Given the description of an element on the screen output the (x, y) to click on. 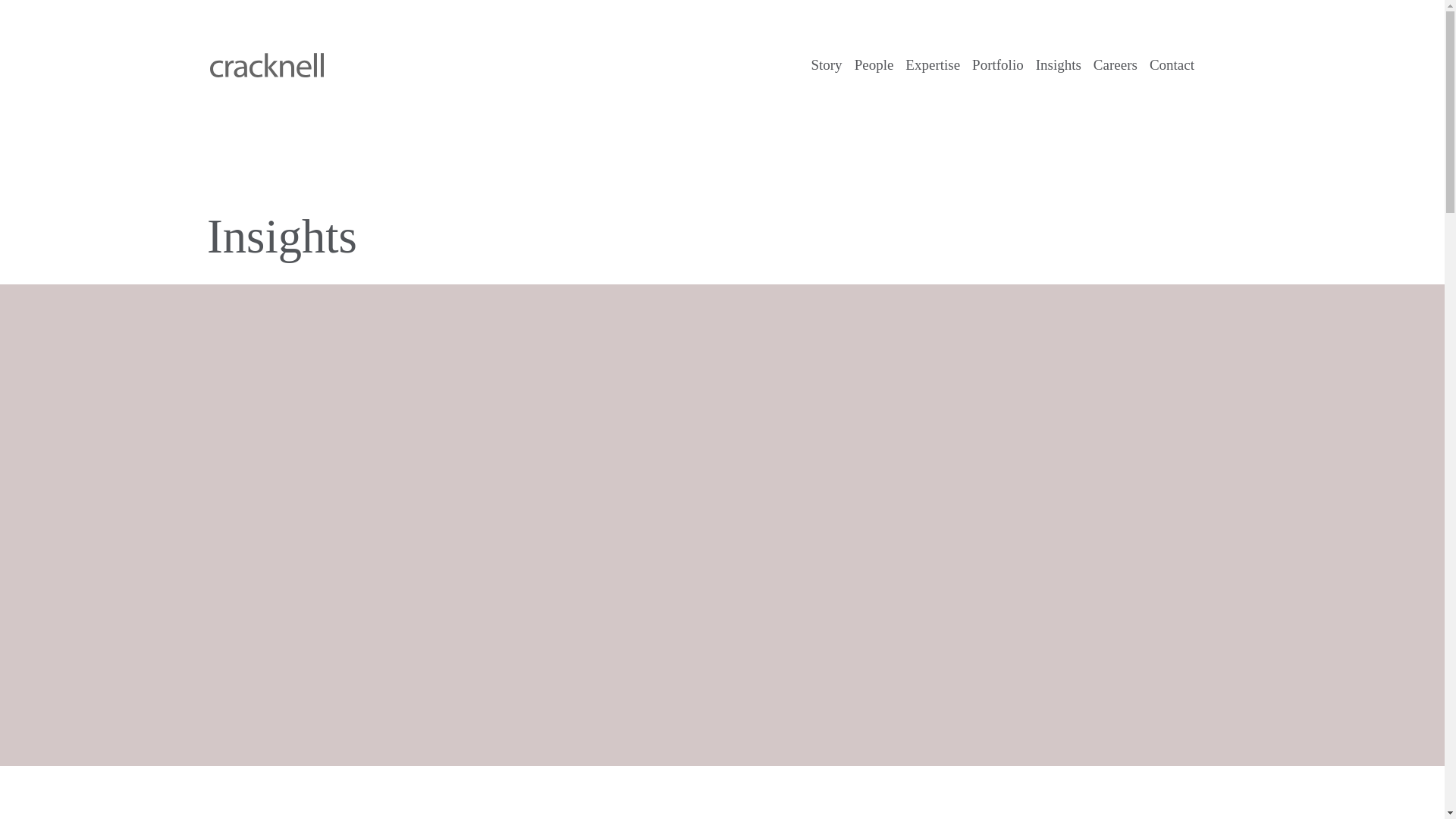
Careers (1114, 65)
Story (826, 65)
Contact (1170, 65)
Insights (1058, 65)
People (873, 65)
Portfolio (997, 65)
Expertise (932, 65)
